Given the description of an element on the screen output the (x, y) to click on. 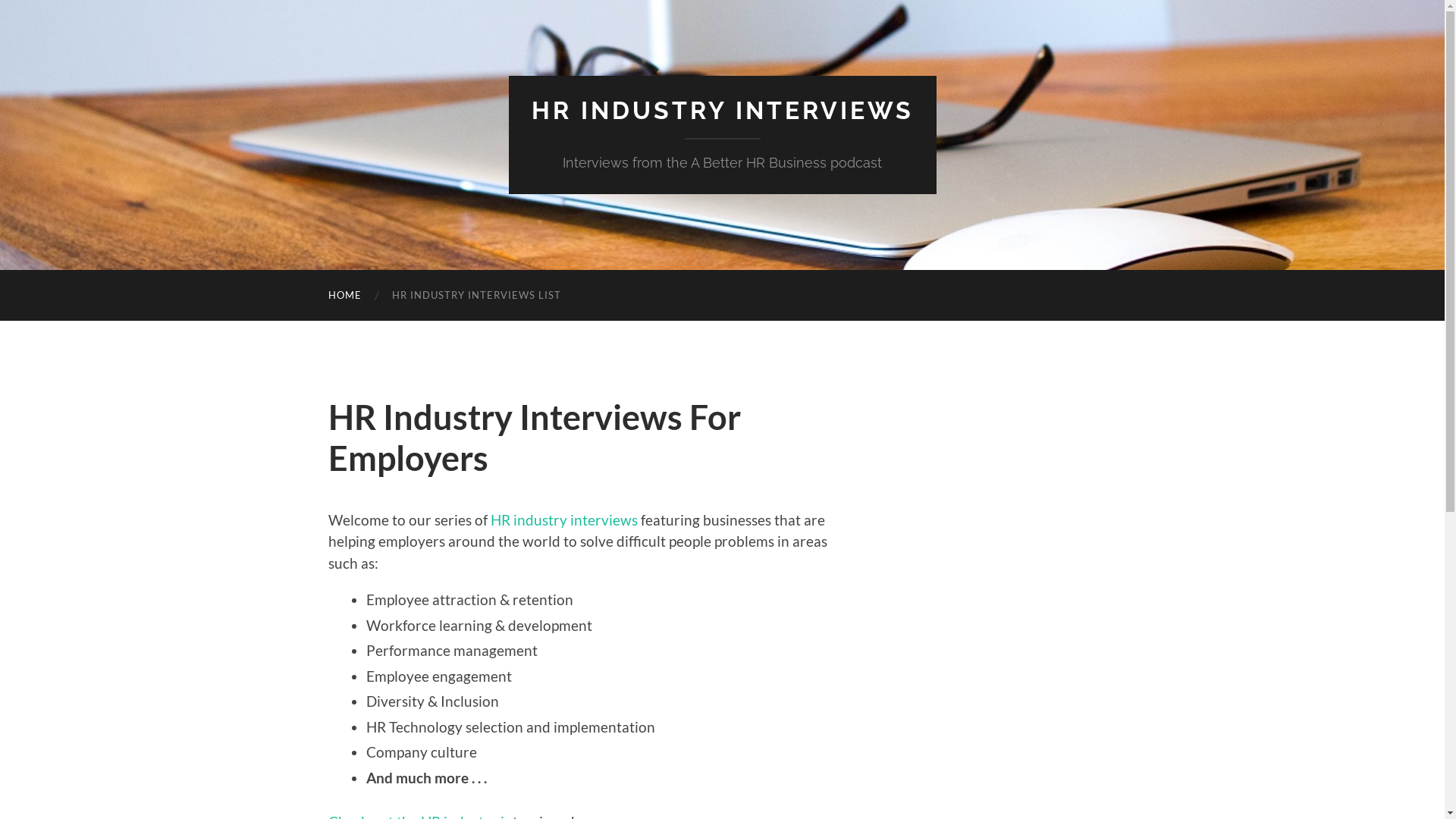
HOME Element type: text (344, 294)
HR INDUSTRY INTERVIEWS LIST Element type: text (475, 294)
HR INDUSTRY INTERVIEWS Element type: text (721, 110)
HR industry interviews Element type: text (563, 519)
